Given the description of an element on the screen output the (x, y) to click on. 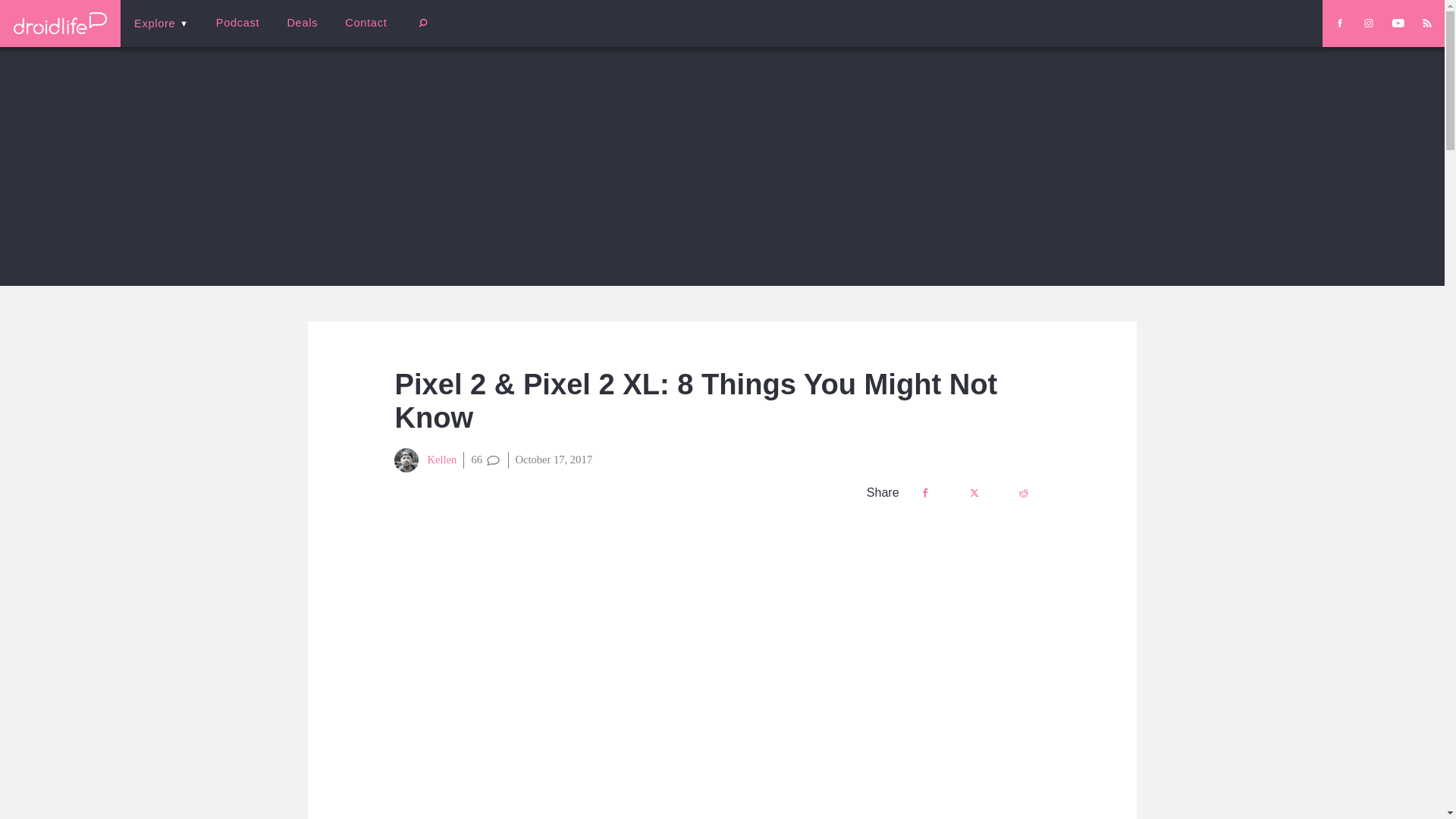
Droid Life on Instagram (1368, 23)
Droid Life on Facebook (1339, 23)
Droid Life on YouTube (1398, 23)
Podcast (237, 23)
Kellen (425, 459)
Beginners' Guide (360, 33)
Deals (302, 23)
Droid Life RSS (1426, 23)
Contact (365, 23)
Explore (161, 23)
